Given the description of an element on the screen output the (x, y) to click on. 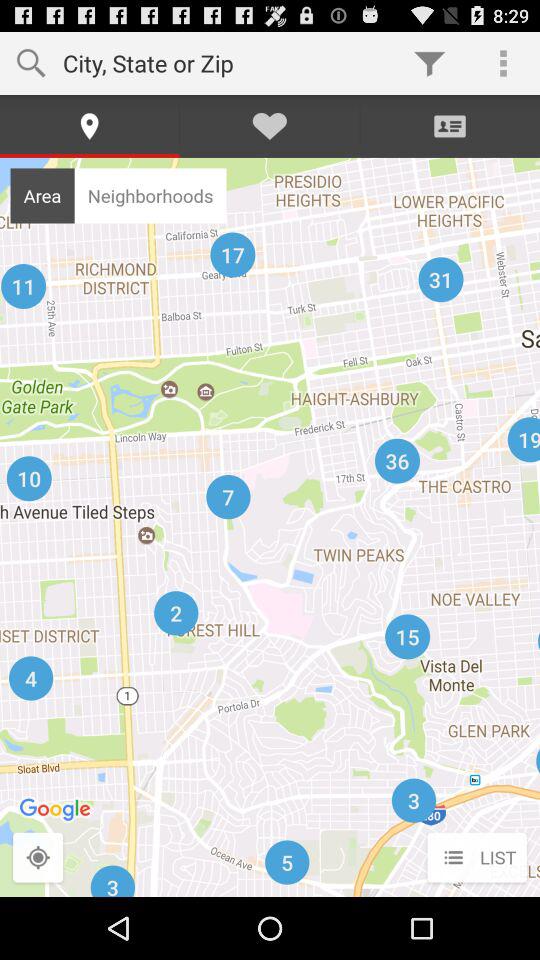
tap neighborhoods (150, 195)
